Given the description of an element on the screen output the (x, y) to click on. 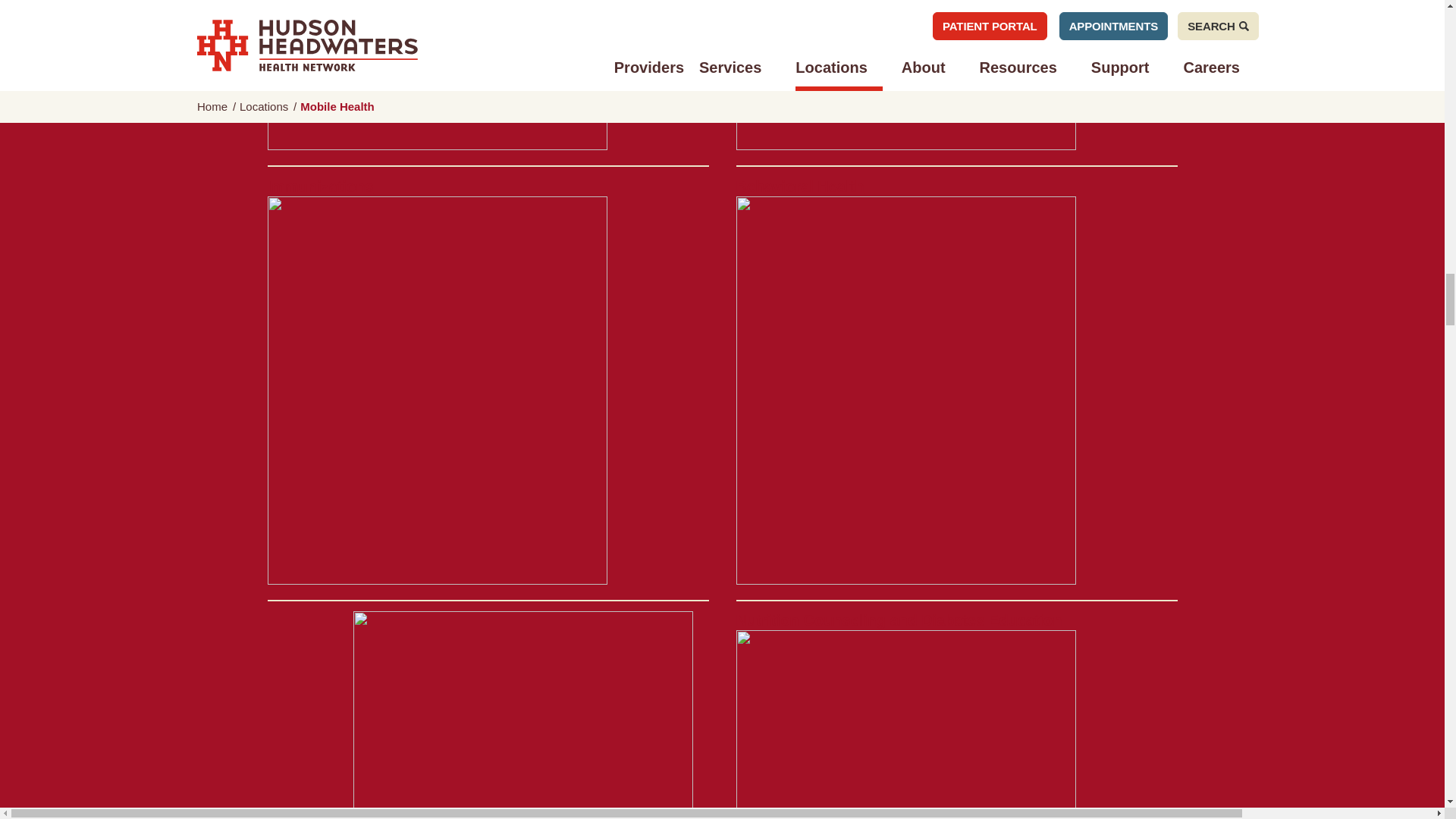
Well Child Services (436, 76)
Nutrition Counseling and Diabetes Education (905, 715)
Health Education (905, 76)
